Given the description of an element on the screen output the (x, y) to click on. 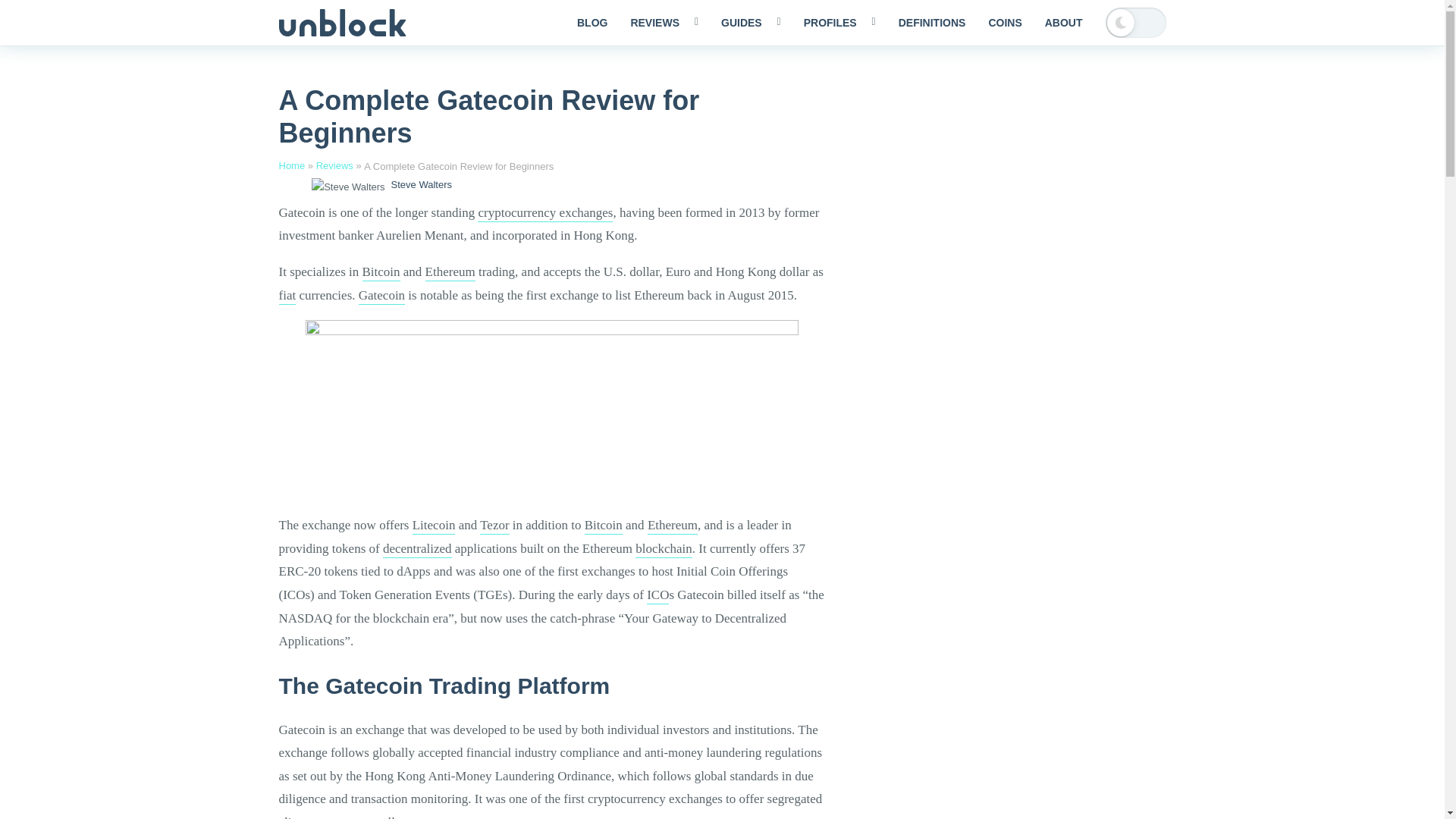
Steve Walters (421, 184)
Bitcoin (381, 272)
Reviews (334, 165)
REVIEWS (664, 22)
ABOUT (1063, 22)
Ethereum (450, 272)
PROFILES (839, 22)
cryptocurrency exchanges (544, 213)
DEFINITIONS (931, 22)
COINS (1004, 22)
